Given the description of an element on the screen output the (x, y) to click on. 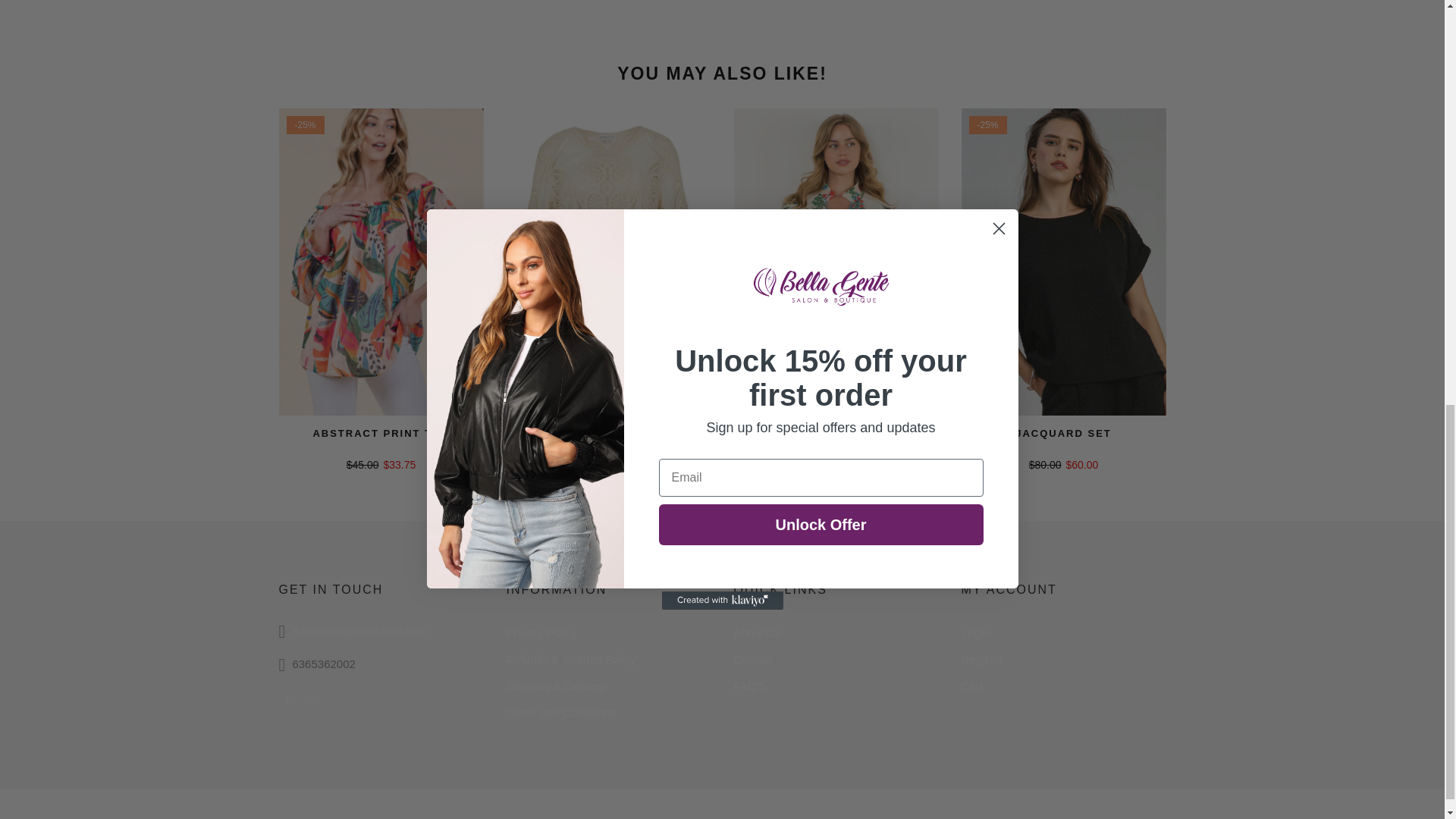
APRICOT CROCHET TOP (608, 432)
ABSTRACT PRINT TOP (380, 432)
FLORAL PUFF SLEEVE TOP (835, 432)
JACQUARD SET (1063, 432)
